Given the description of an element on the screen output the (x, y) to click on. 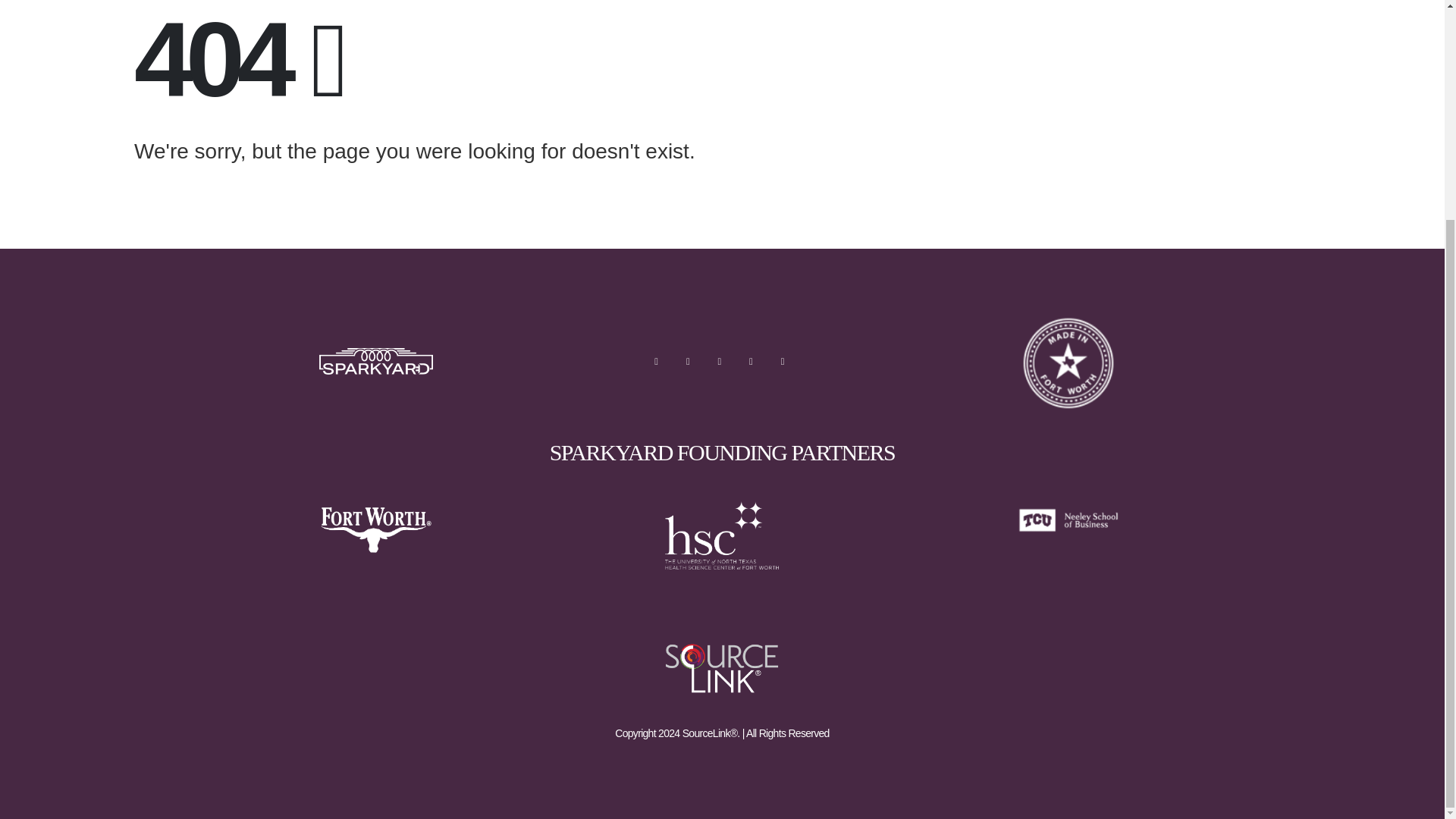
Twitter (687, 361)
Facebook (655, 361)
Youtube (718, 361)
Instagram (750, 361)
LinkedIn (782, 361)
